Given the description of an element on the screen output the (x, y) to click on. 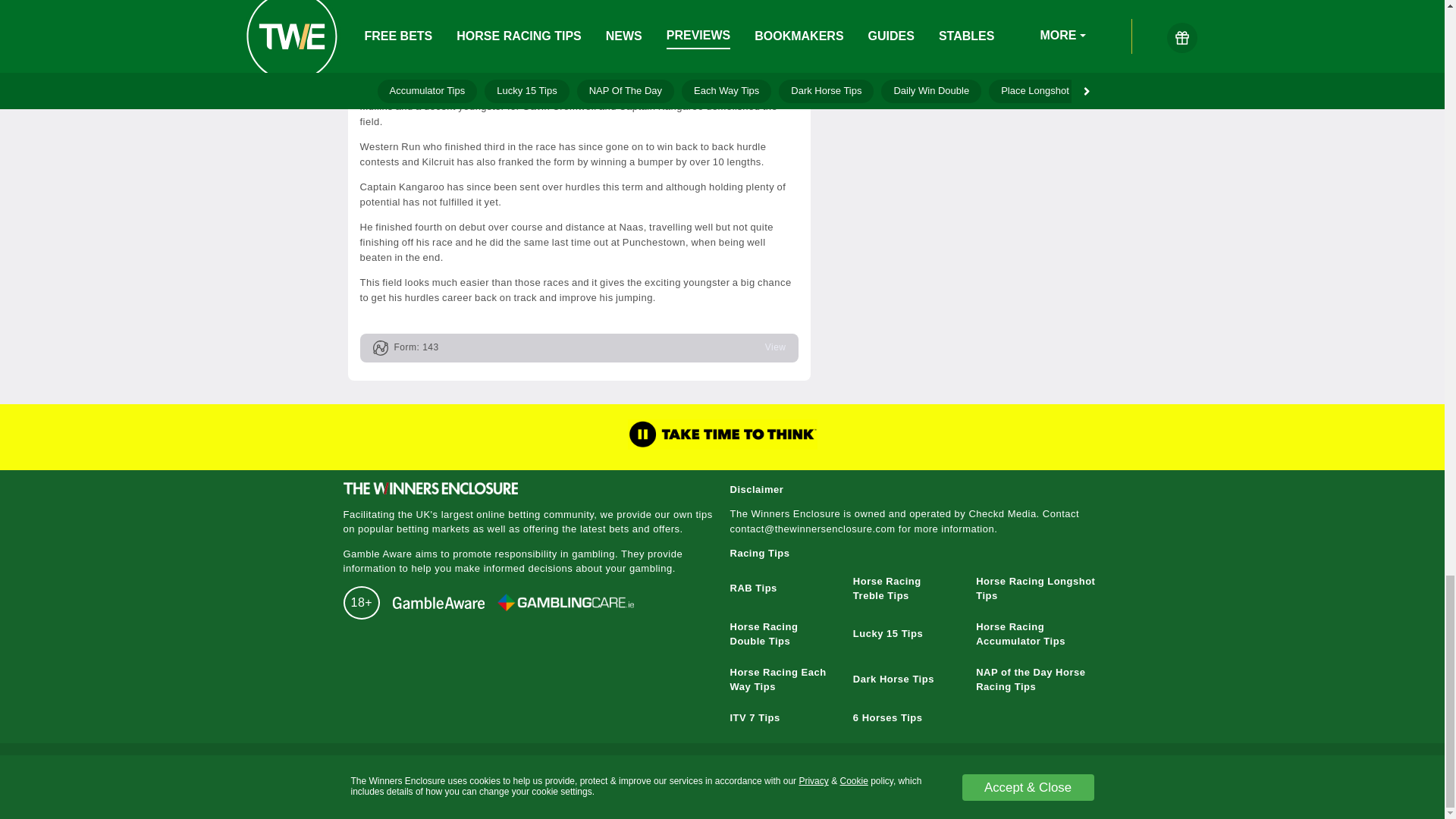
Horse Racing Longshot Tips (1034, 588)
Horse Racing Treble Tips (887, 588)
Horse Racing Double Tips (763, 633)
RAB Tips (752, 587)
Racing Tips (759, 552)
